Given the description of an element on the screen output the (x, y) to click on. 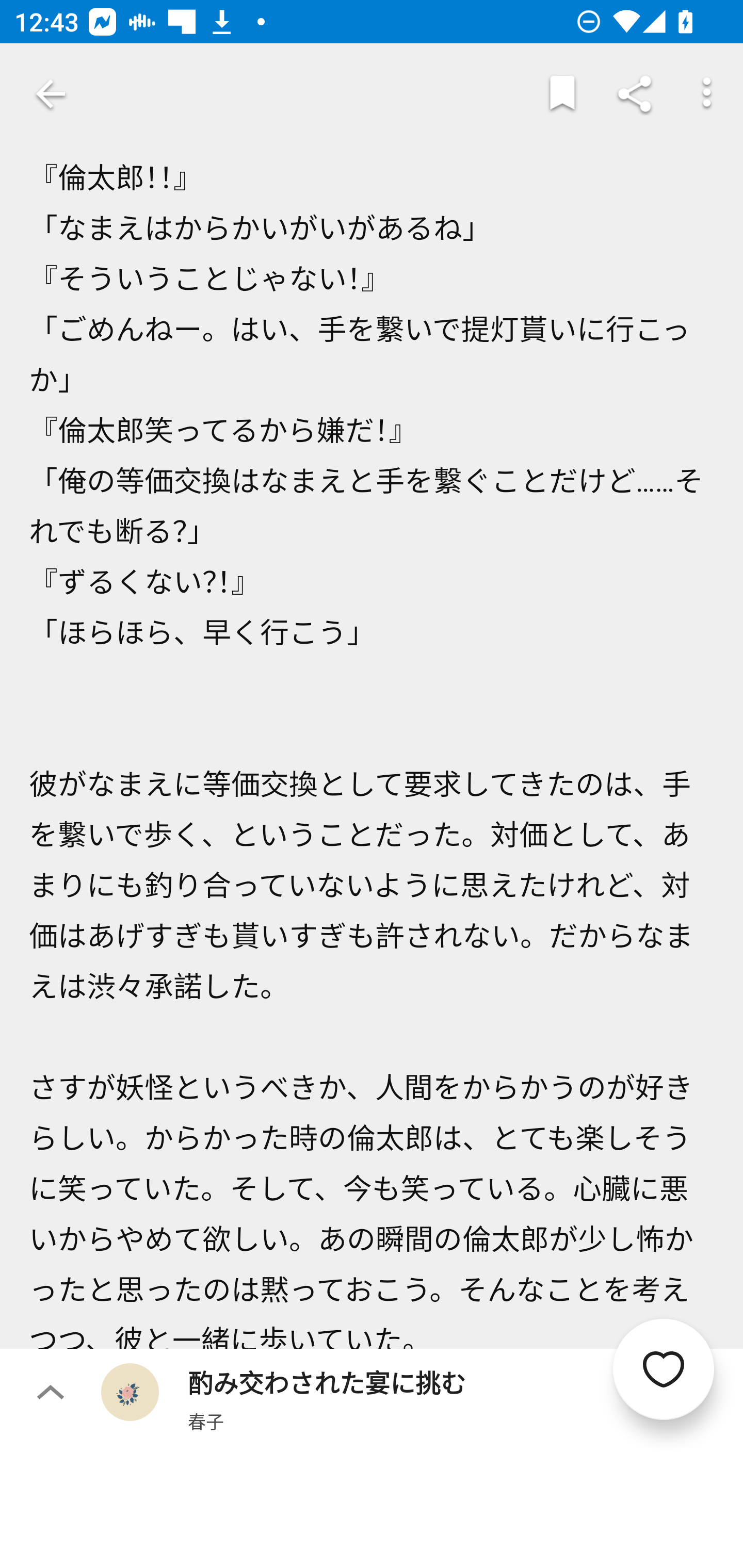
Navigate up (50, 93)
Markers (562, 93)
Share (634, 93)
More options (706, 93)
春子 (205, 1421)
